Given the description of an element on the screen output the (x, y) to click on. 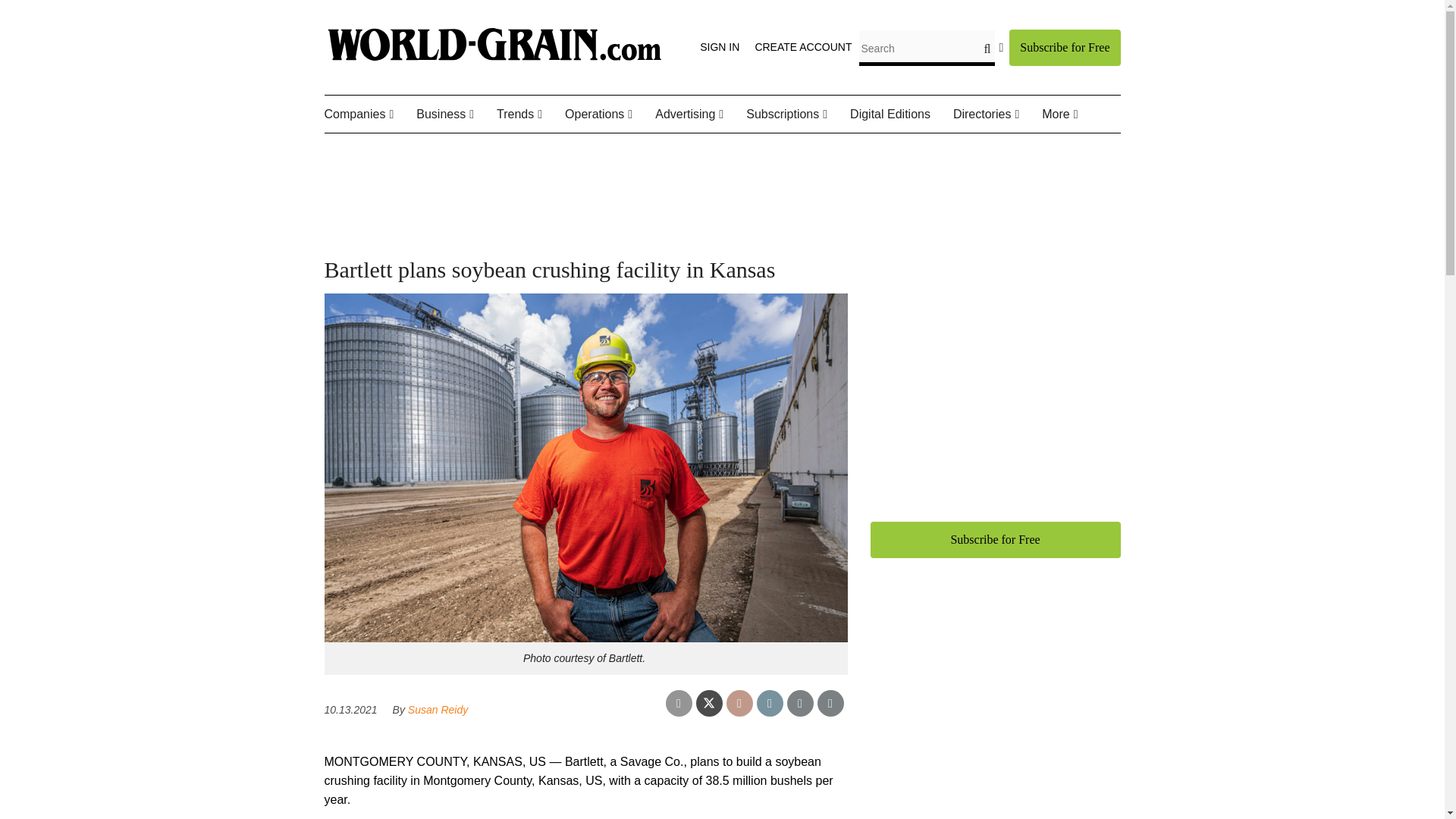
WorldGrain (494, 61)
